Given the description of an element on the screen output the (x, y) to click on. 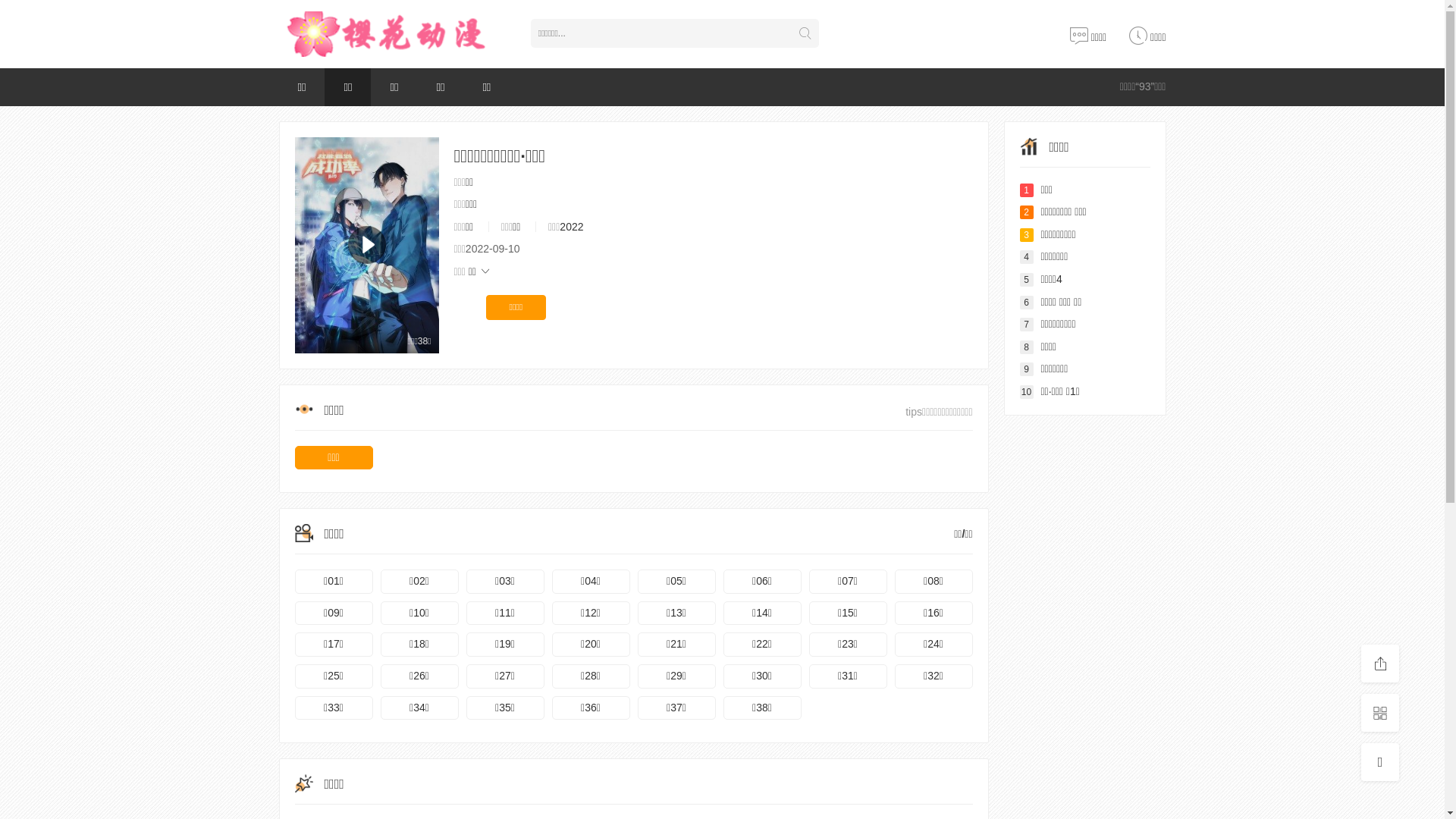
2022 Element type: text (571, 226)
